Given the description of an element on the screen output the (x, y) to click on. 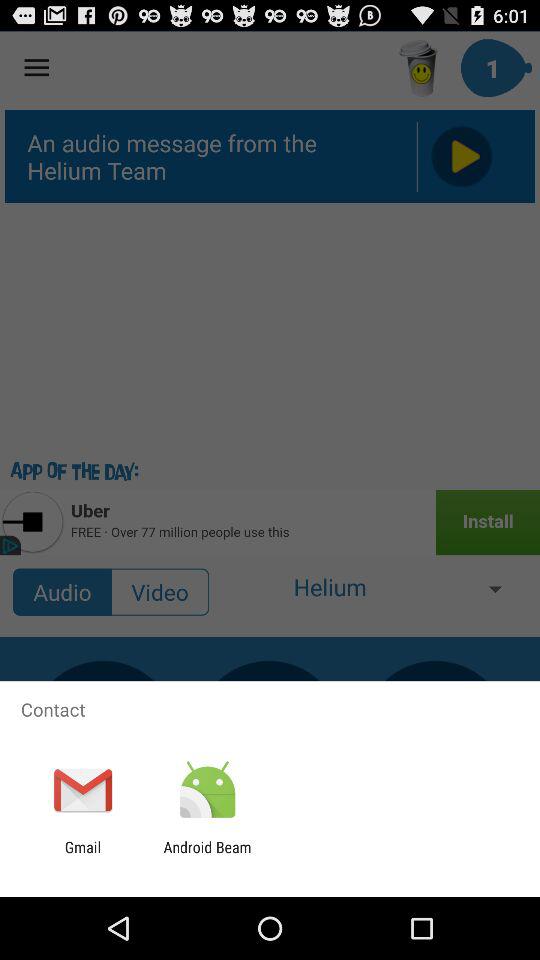
turn on item to the left of the android beam icon (82, 856)
